Given the description of an element on the screen output the (x, y) to click on. 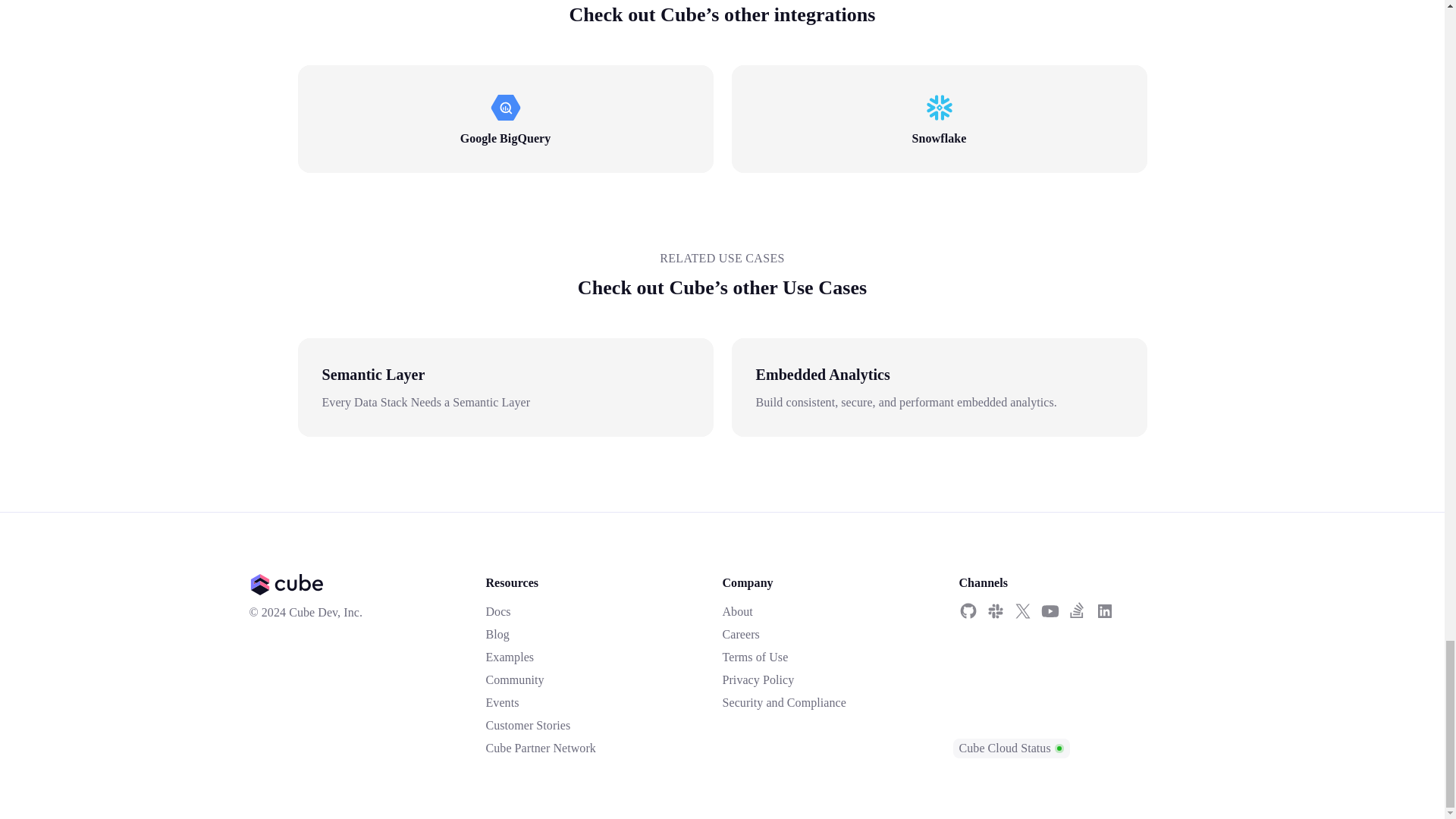
Snowflake (939, 138)
Community (513, 680)
Embedded Analytics (822, 374)
Customer Stories (527, 725)
About (737, 611)
Terms of Use (754, 657)
Careers (740, 634)
Blog (496, 634)
Privacy Policy (757, 680)
Examples (509, 657)
